Given the description of an element on the screen output the (x, y) to click on. 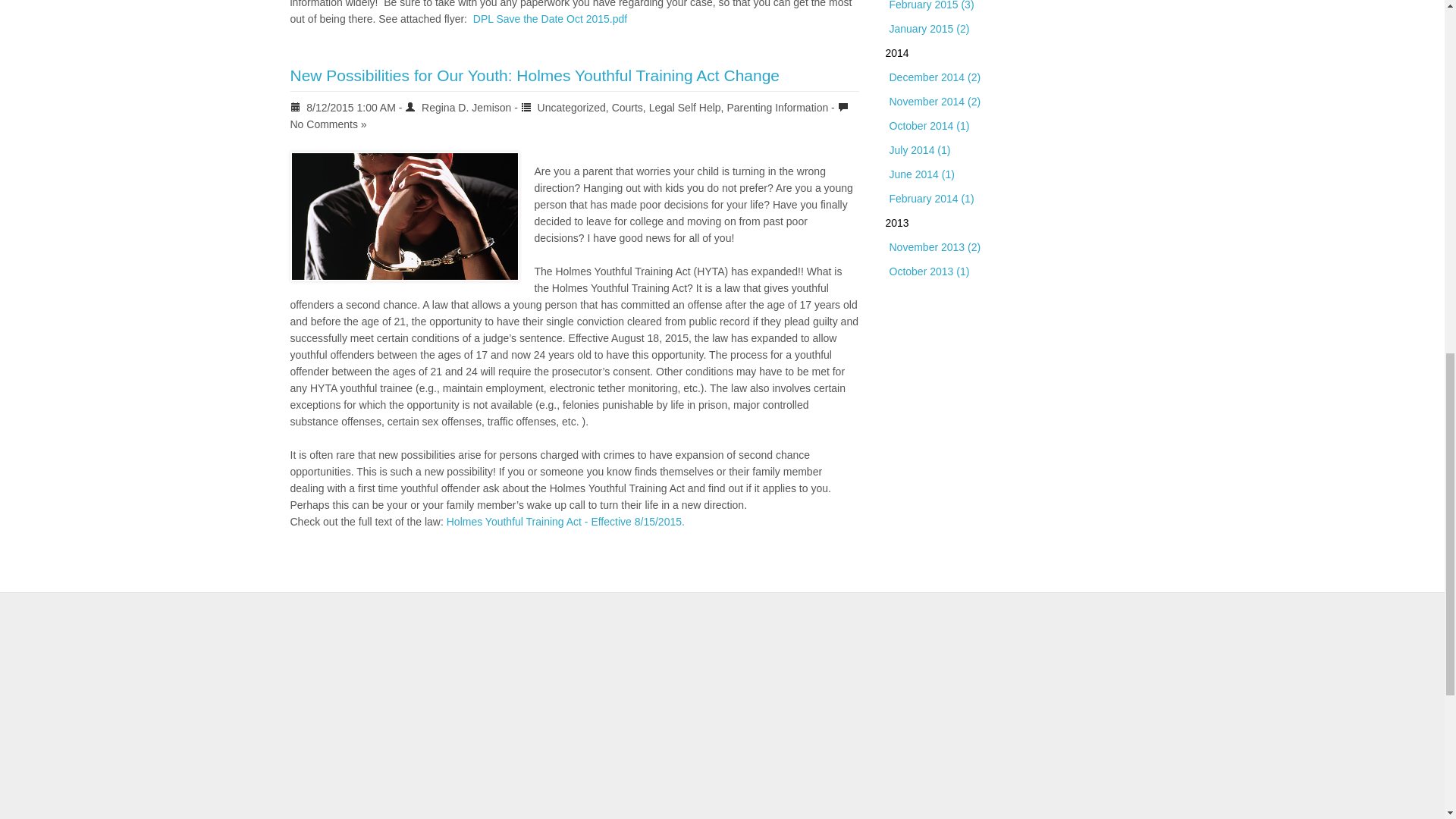
Legal Self Help (684, 107)
View all posts in Uncategorized (571, 107)
Uncategorized (571, 107)
Regina D. Jemison (466, 107)
DPL Save the Date Oct 2015.pdf (550, 19)
Courts (627, 107)
Parenting Information (777, 107)
